Given the description of an element on the screen output the (x, y) to click on. 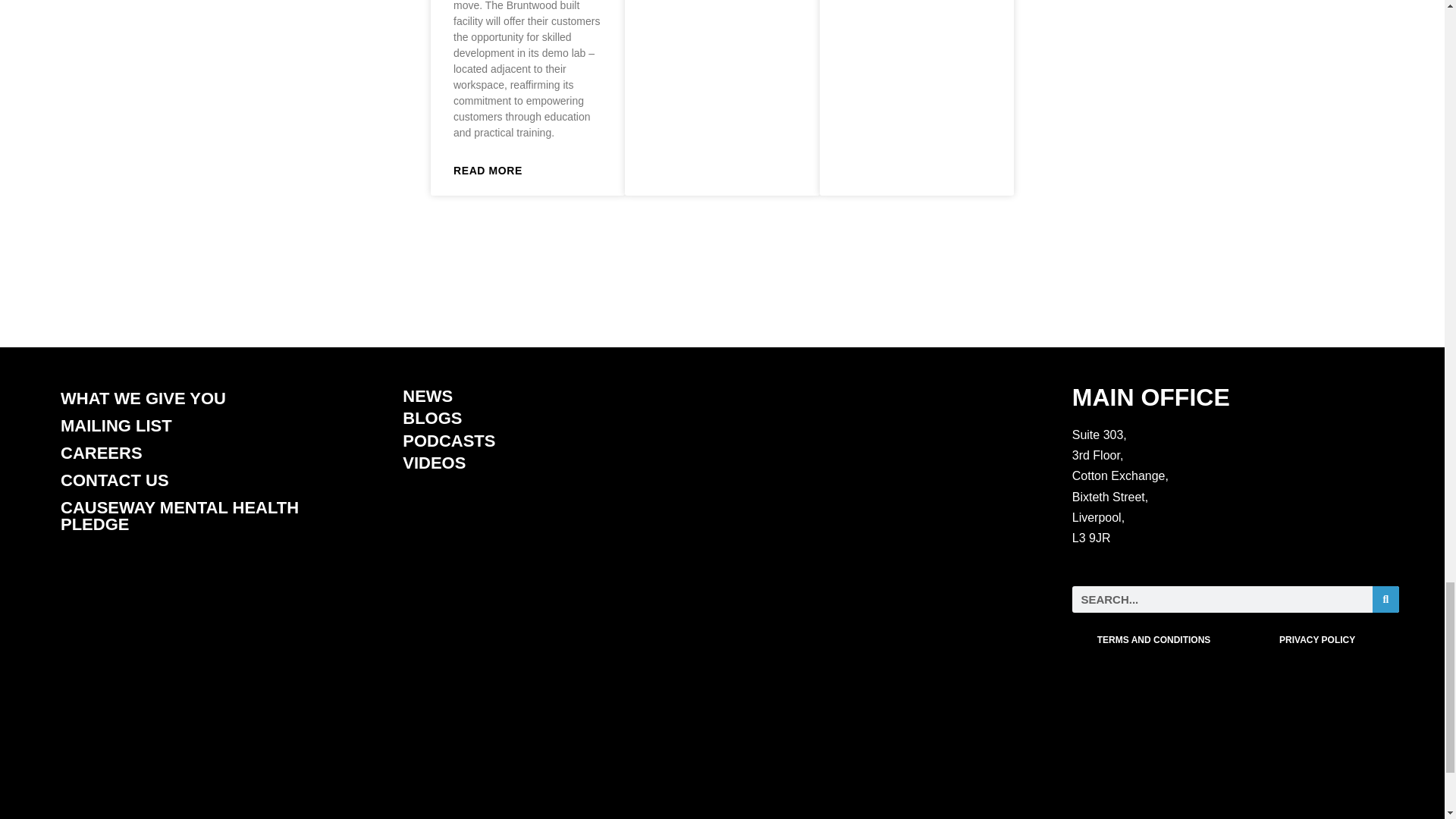
READ MORE (487, 171)
